Given the description of an element on the screen output the (x, y) to click on. 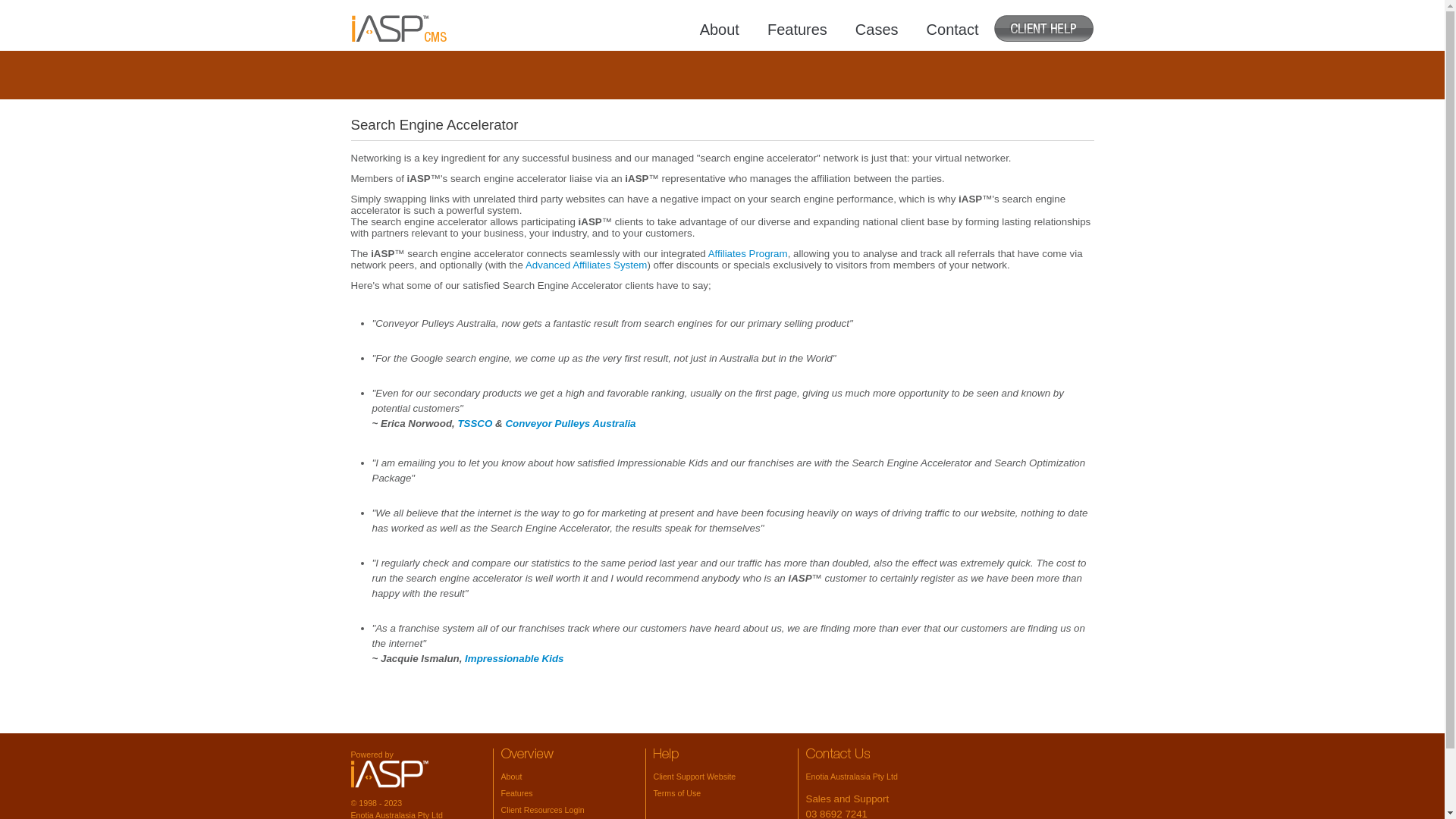
Advanced Affiliates System Element type: text (586, 264)
About Element type: text (510, 776)
Client Support Website Element type: text (694, 776)
Overview Element type: hover (526, 754)
Help Element type: hover (665, 754)
Impressionable Kids Element type: text (513, 658)
Contact Us Element type: hover (837, 754)
iASP Element type: hover (388, 773)
TSSCO Element type: text (474, 423)
Features Element type: text (797, 29)
Cases Element type: text (876, 29)
Contact Element type: text (952, 29)
Features Element type: text (516, 792)
Client Help Element type: hover (1042, 28)
About Element type: text (719, 29)
Terms of Use Element type: text (677, 792)
Conveyor Pulleys Australia Element type: text (570, 423)
Client Resources Login Element type: text (541, 809)
Enotia Australasia Pty Ltd Element type: text (851, 776)
Affiliates Program Element type: text (747, 253)
